Given the description of an element on the screen output the (x, y) to click on. 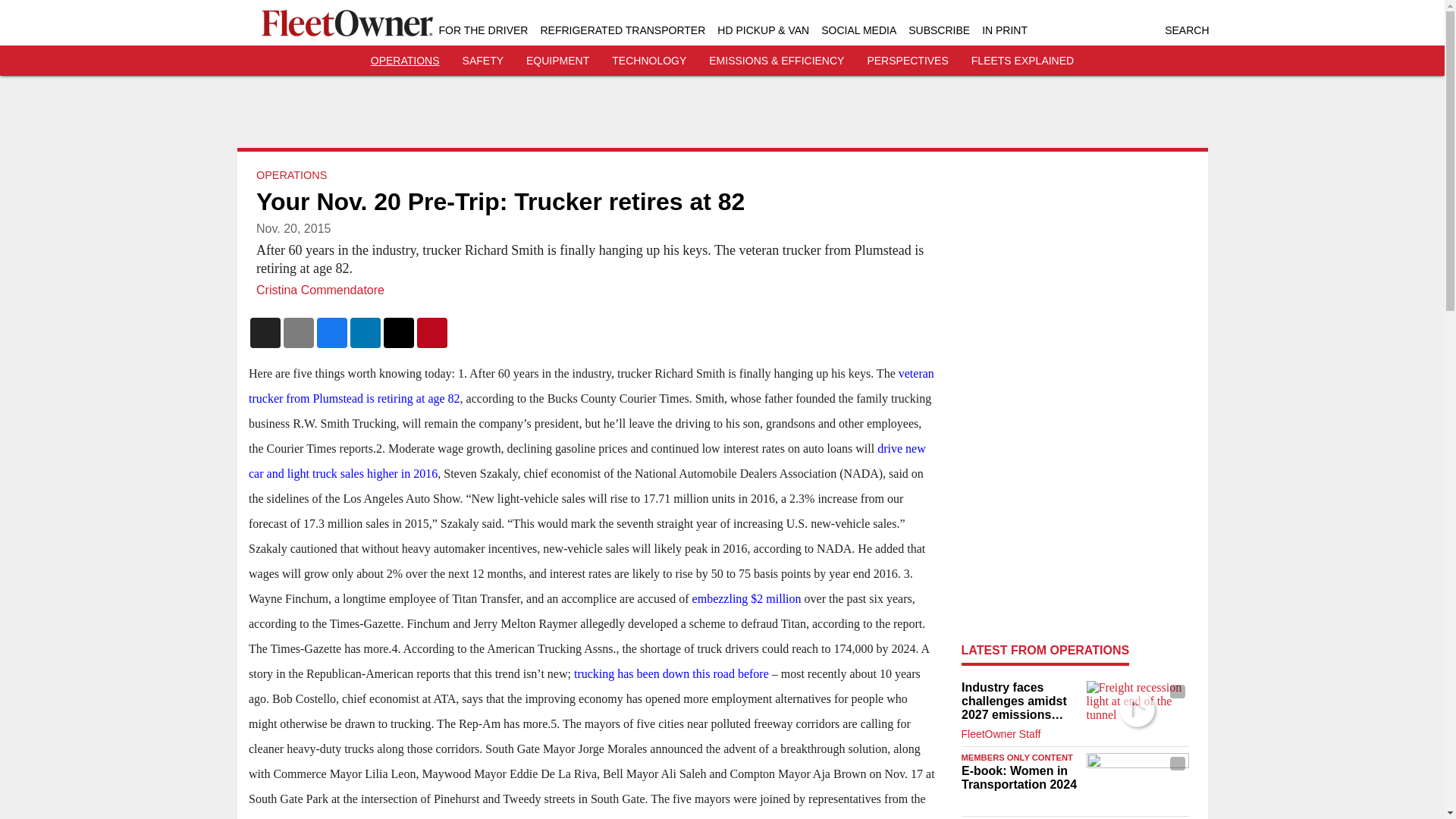
Freight recession light at end of the tunnel (1137, 708)
SUBSCRIBE (938, 30)
Cristina Commendatore (320, 289)
PERSPECTIVES (906, 60)
OPERATIONS (405, 60)
FOR THE DRIVER (482, 30)
SOCIAL MEDIA (858, 30)
OPERATIONS (291, 174)
TECHNOLOGY (648, 60)
IN PRINT (1004, 30)
REFRIGERATED TRANSPORTER (622, 30)
EQUIPMENT (557, 60)
SEARCH (1186, 30)
FLEETS EXPLAINED (1022, 60)
SAFETY (483, 60)
